Given the description of an element on the screen output the (x, y) to click on. 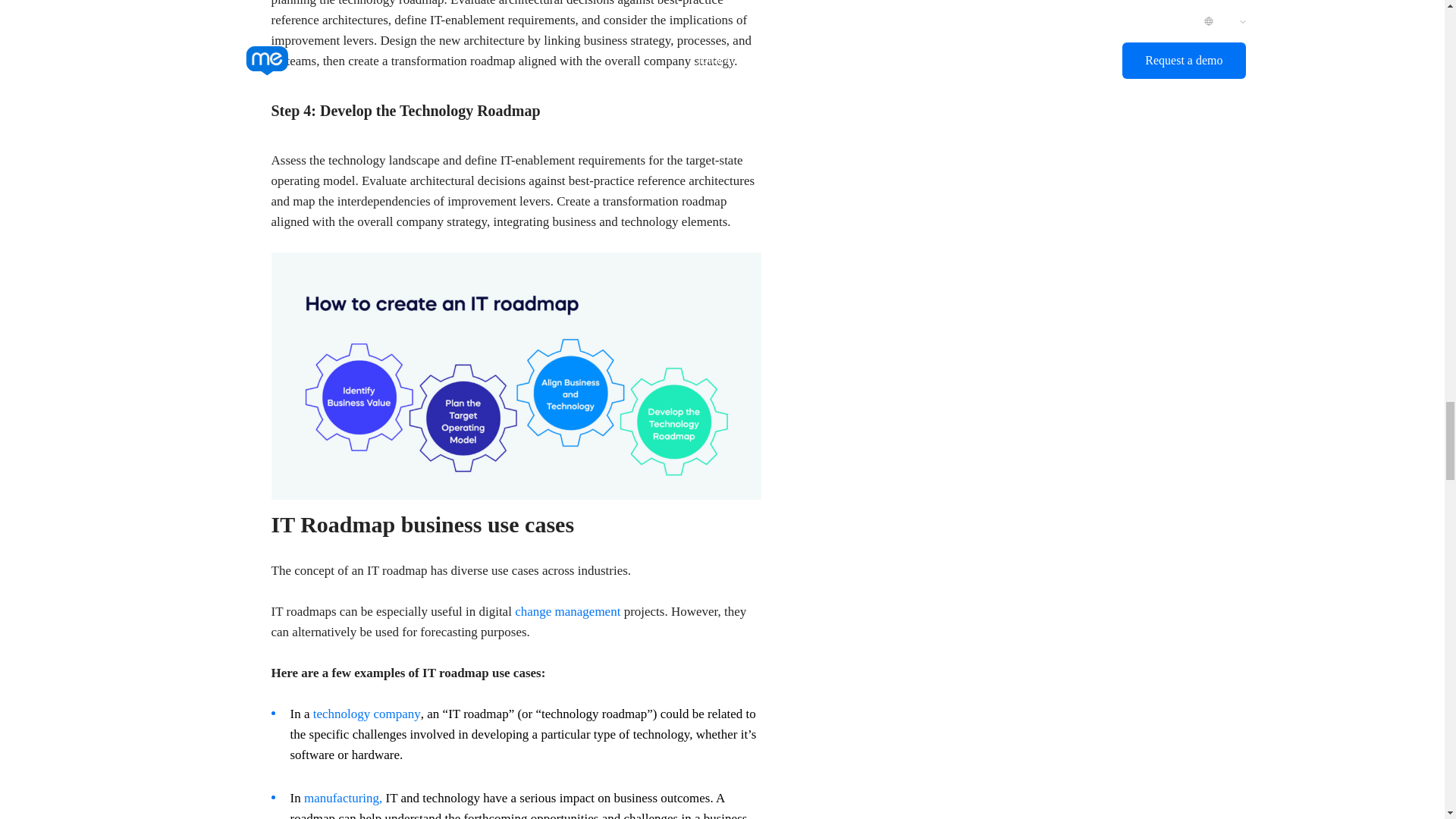
change management (567, 611)
